Given the description of an element on the screen output the (x, y) to click on. 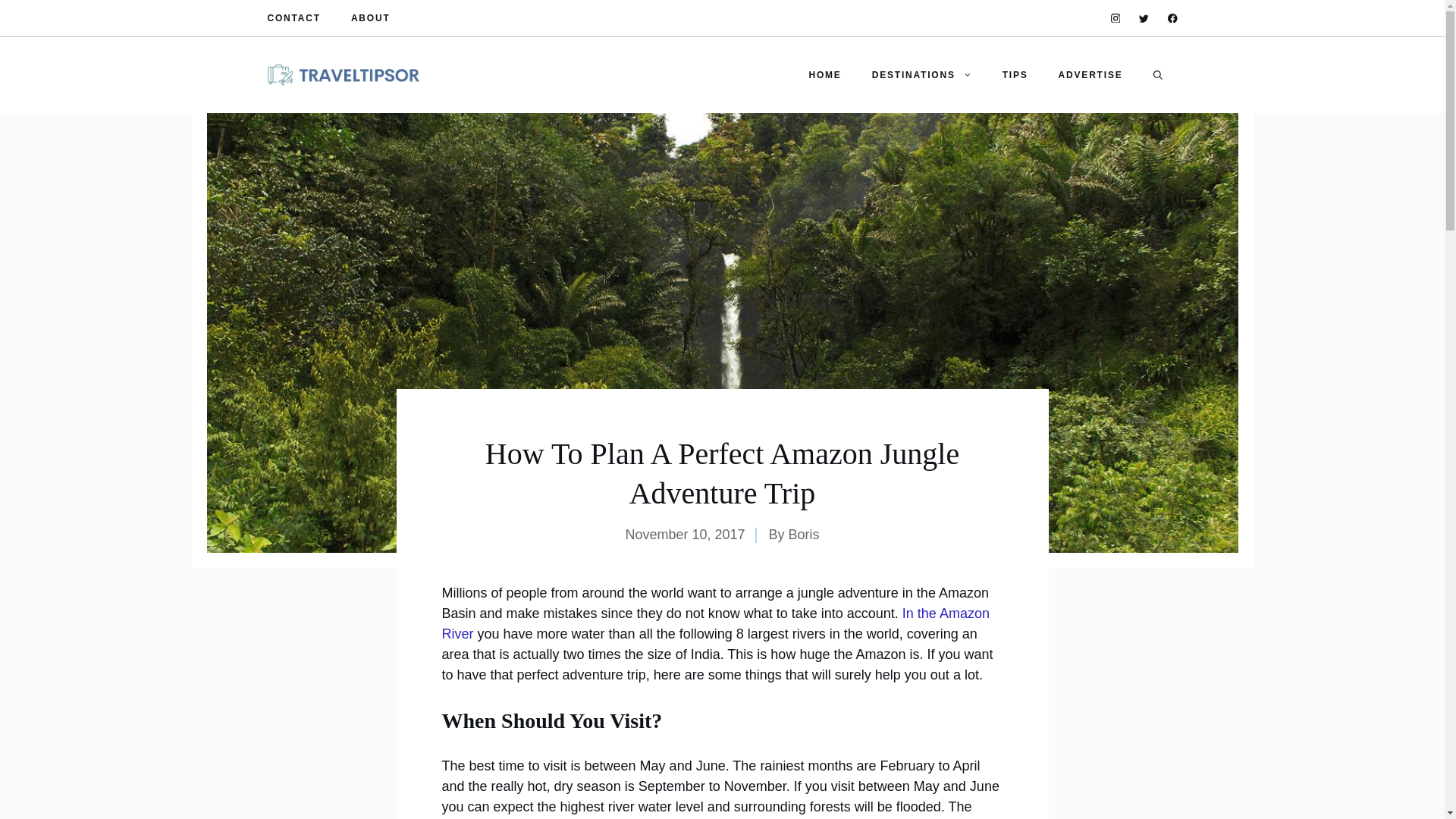
Boris (804, 534)
ADVERTISE (1090, 74)
ABOUT (370, 18)
TIPS (1015, 74)
DESTINATIONS (922, 74)
In the Amazon River (714, 623)
CONTACT (293, 18)
HOME (824, 74)
